Given the description of an element on the screen output the (x, y) to click on. 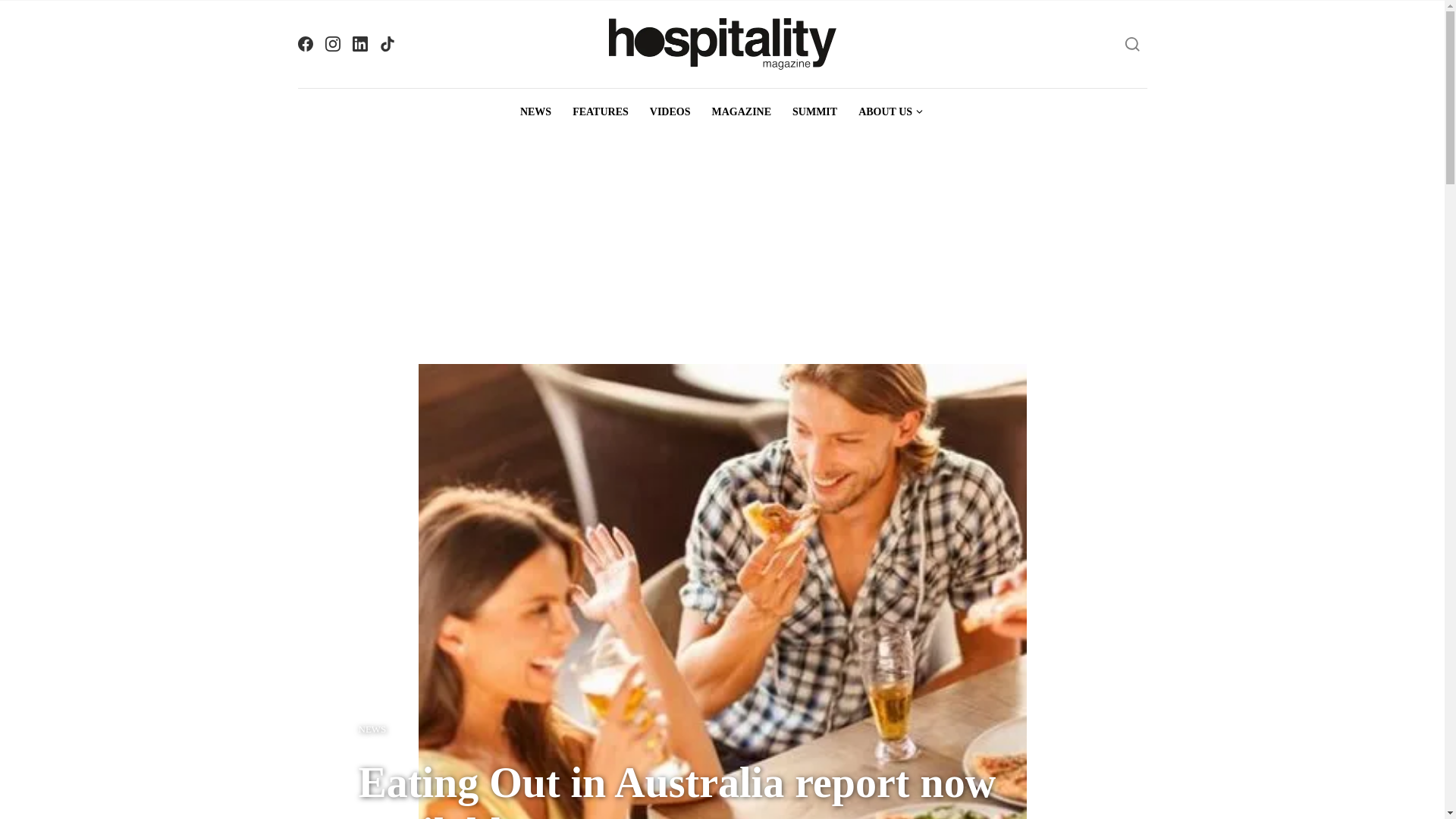
View all posts in News (372, 729)
NEWS (372, 729)
SUMMIT (814, 111)
NEWS (535, 111)
MAGAZINE (740, 111)
FEATURES (600, 111)
VIDEOS (670, 111)
ABOUT US (890, 111)
